Given the description of an element on the screen output the (x, y) to click on. 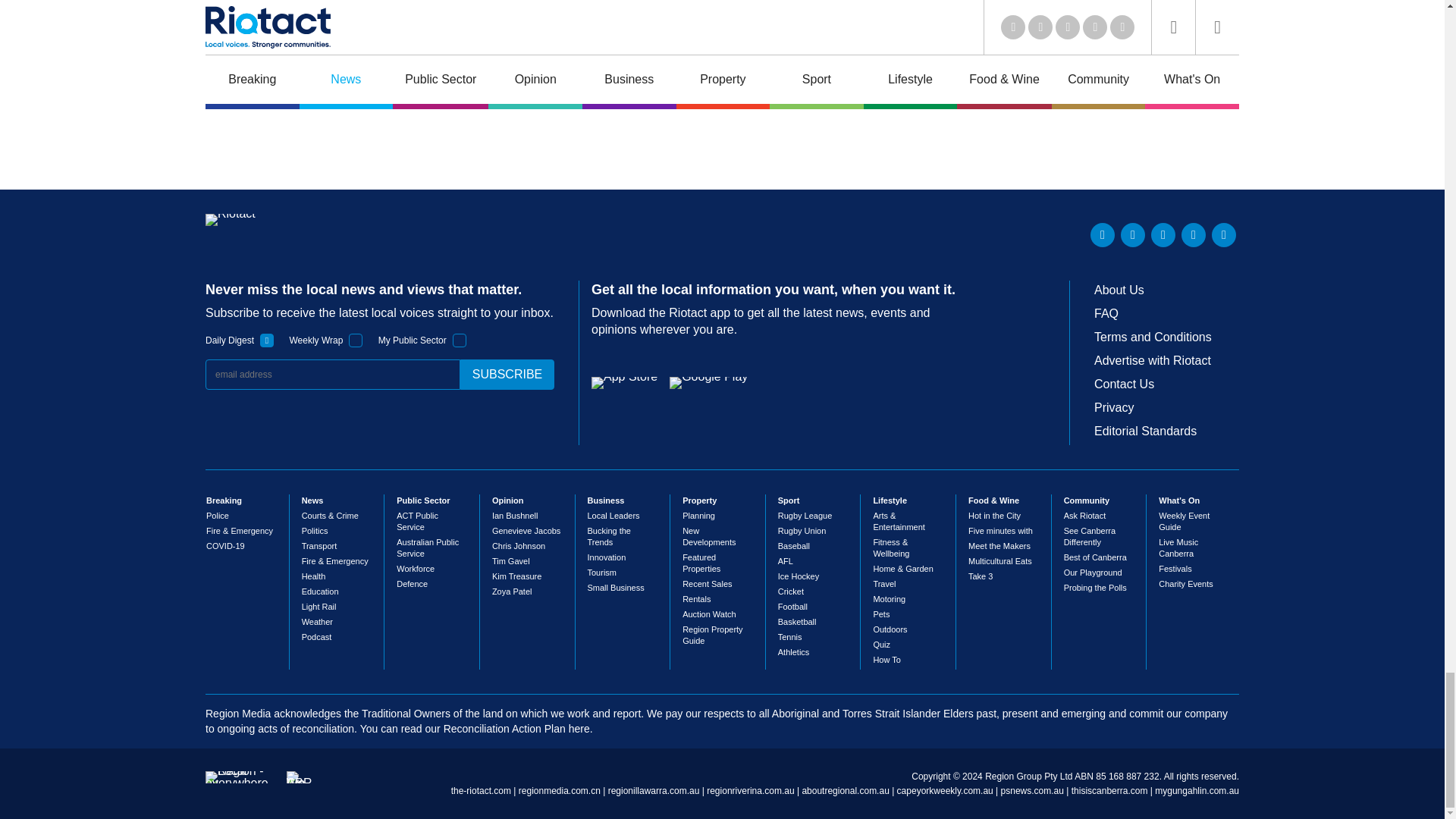
1 (458, 340)
subscribe (507, 374)
1 (355, 340)
1 (266, 340)
